Given the description of an element on the screen output the (x, y) to click on. 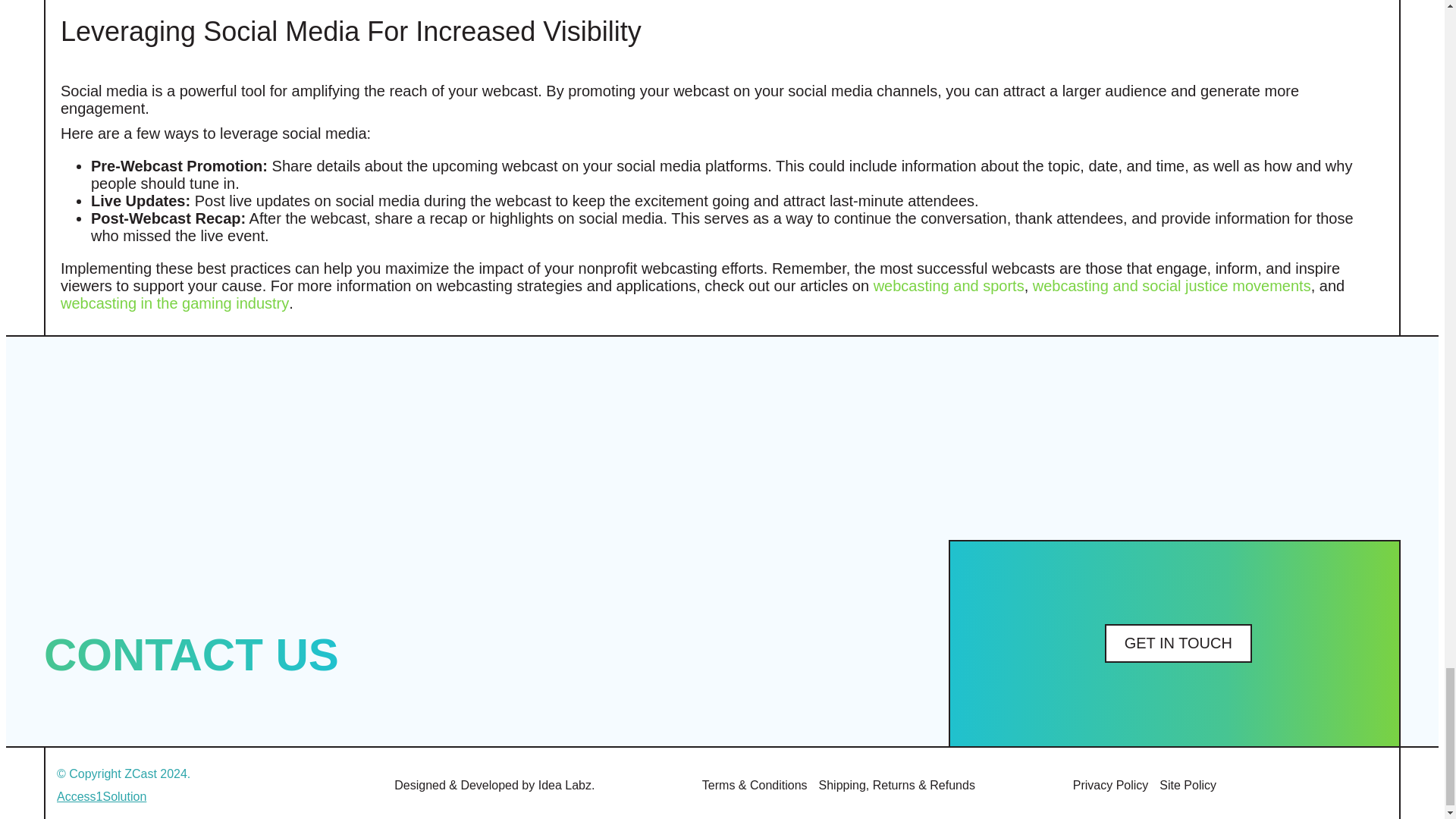
webcasting and social justice movements (1171, 285)
Privacy Policy (1110, 784)
webcasting in the gaming industry (174, 303)
Site Policy (1186, 784)
GET IN TOUCH (1178, 643)
webcasting and sports (949, 285)
